Given the description of an element on the screen output the (x, y) to click on. 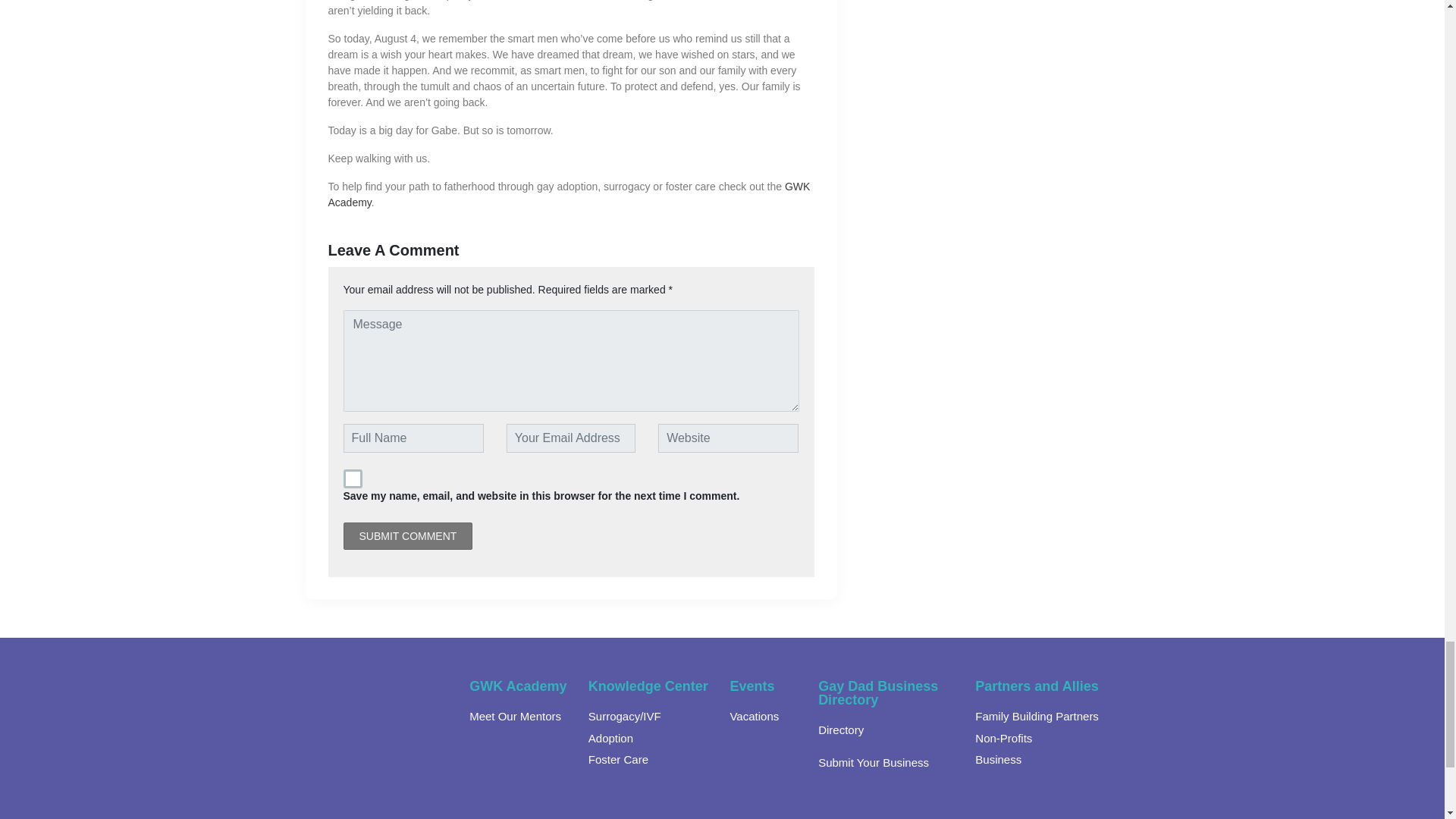
SUBMIT COMMENT (406, 535)
yes (351, 478)
